Given the description of an element on the screen output the (x, y) to click on. 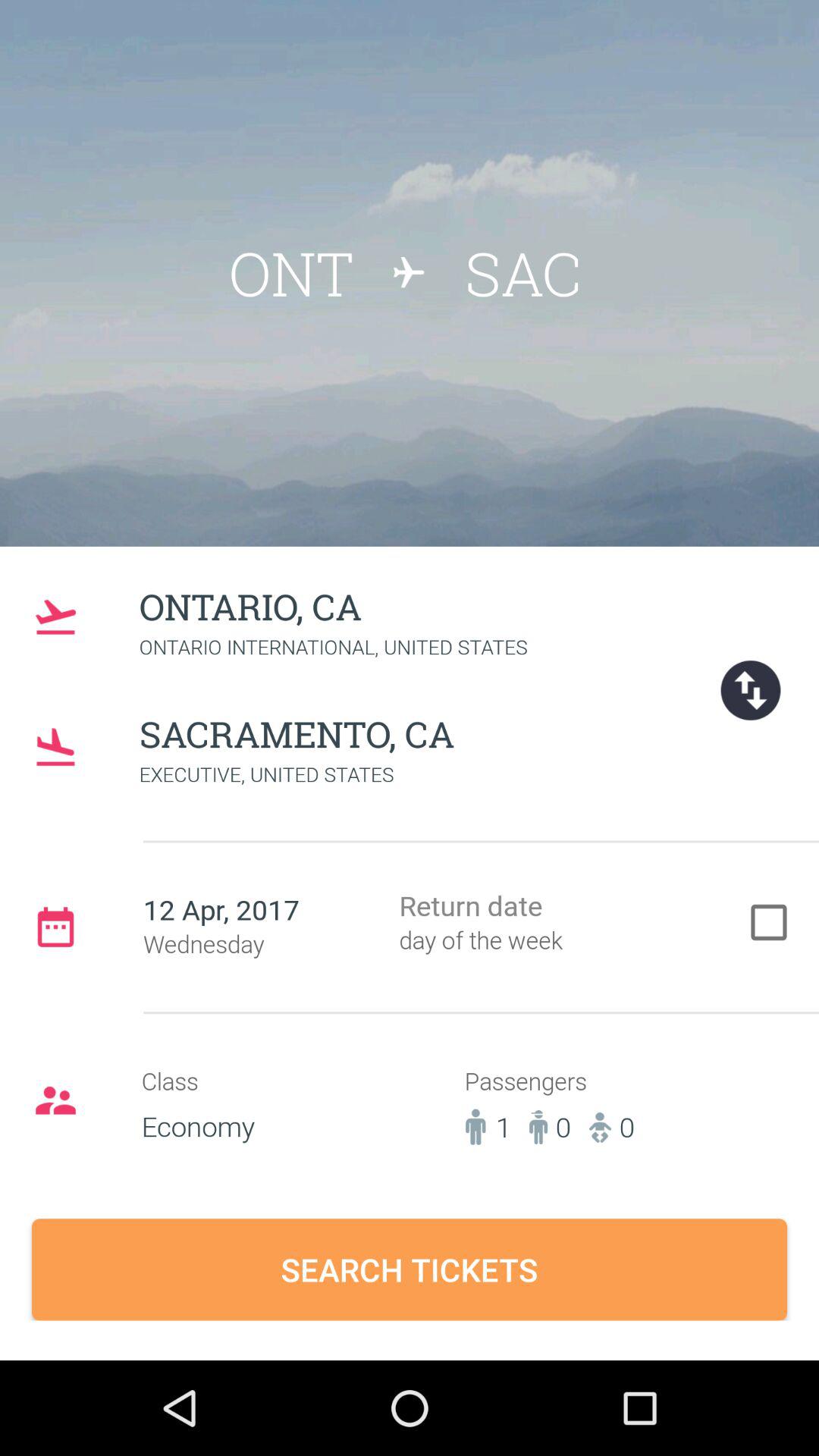
select the swap icon (750, 690)
click on the search tickets button (409, 1269)
click on return date day of the week checkbox (575, 925)
